Given the description of an element on the screen output the (x, y) to click on. 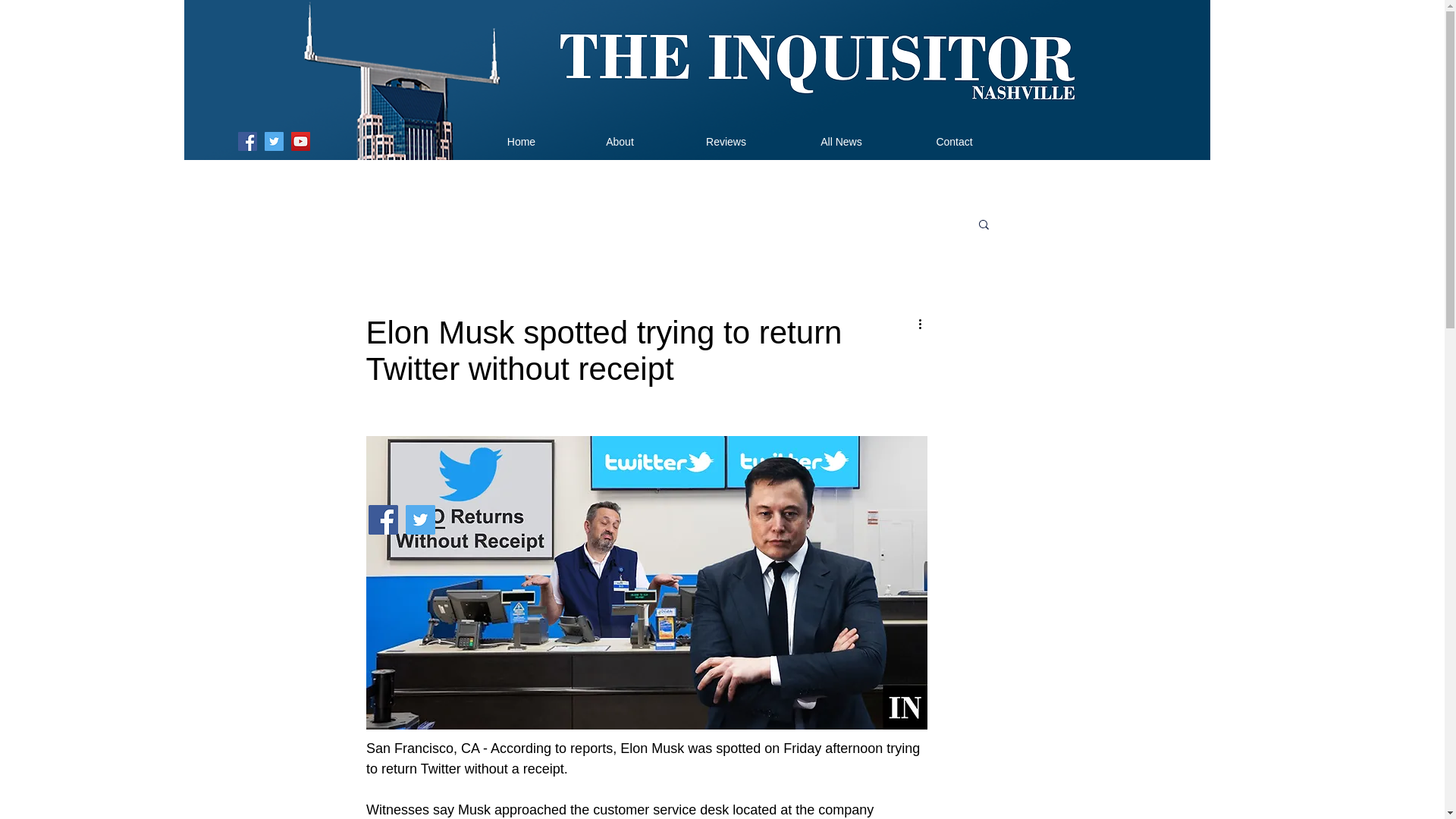
Reviews (725, 141)
All News (841, 141)
Home (520, 141)
About (619, 141)
Contact (954, 141)
